Given the description of an element on the screen output the (x, y) to click on. 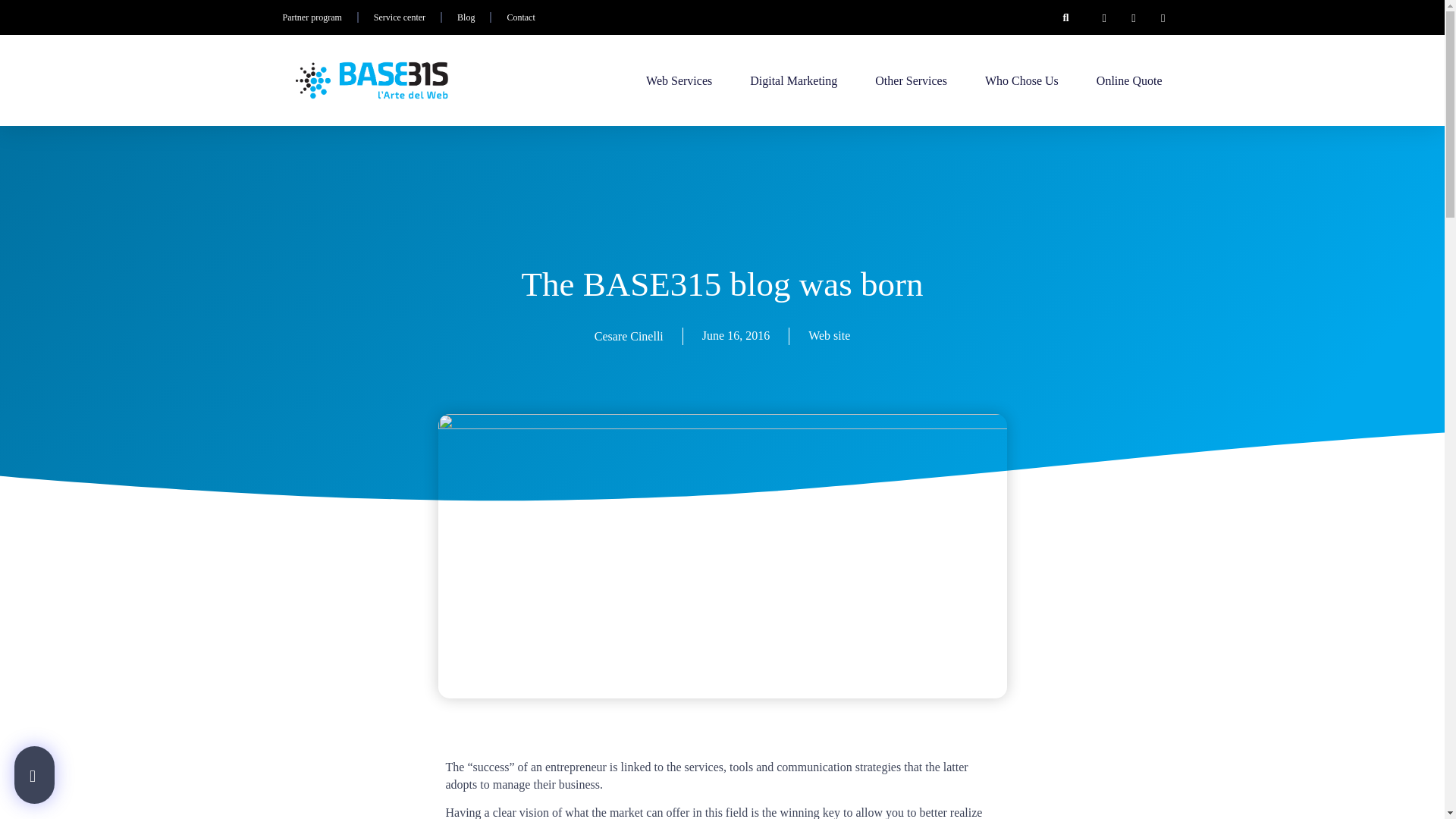
Other Services (911, 80)
Blog (465, 17)
Online Quote (1128, 80)
Digital Marketing (793, 80)
Who Chose Us (1021, 80)
Partner program (311, 17)
Web Services (678, 80)
Contact (521, 17)
Service center (399, 17)
